Given the description of an element on the screen output the (x, y) to click on. 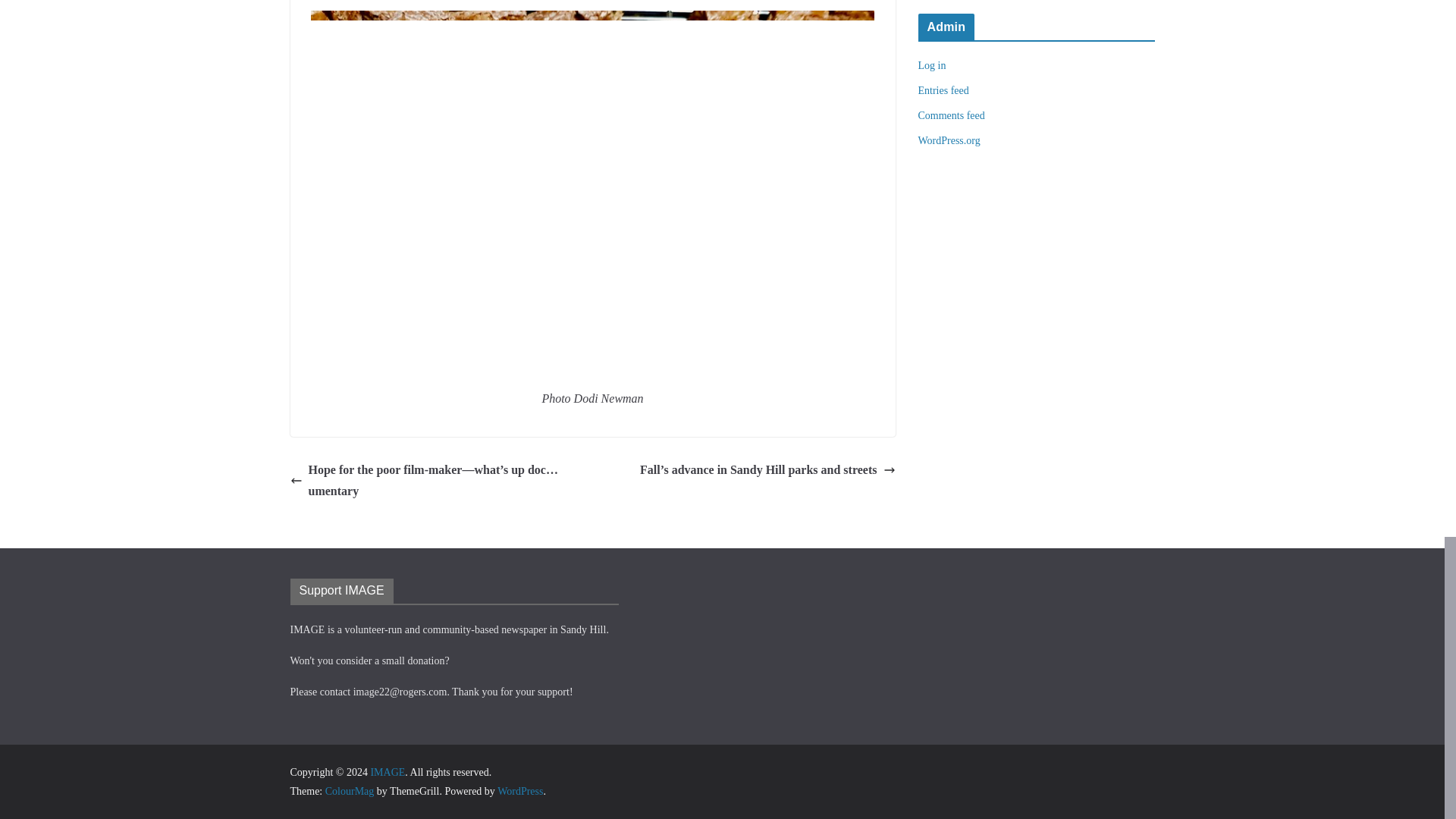
IMAGE (386, 772)
ColourMag (349, 790)
WordPress (520, 790)
